Given the description of an element on the screen output the (x, y) to click on. 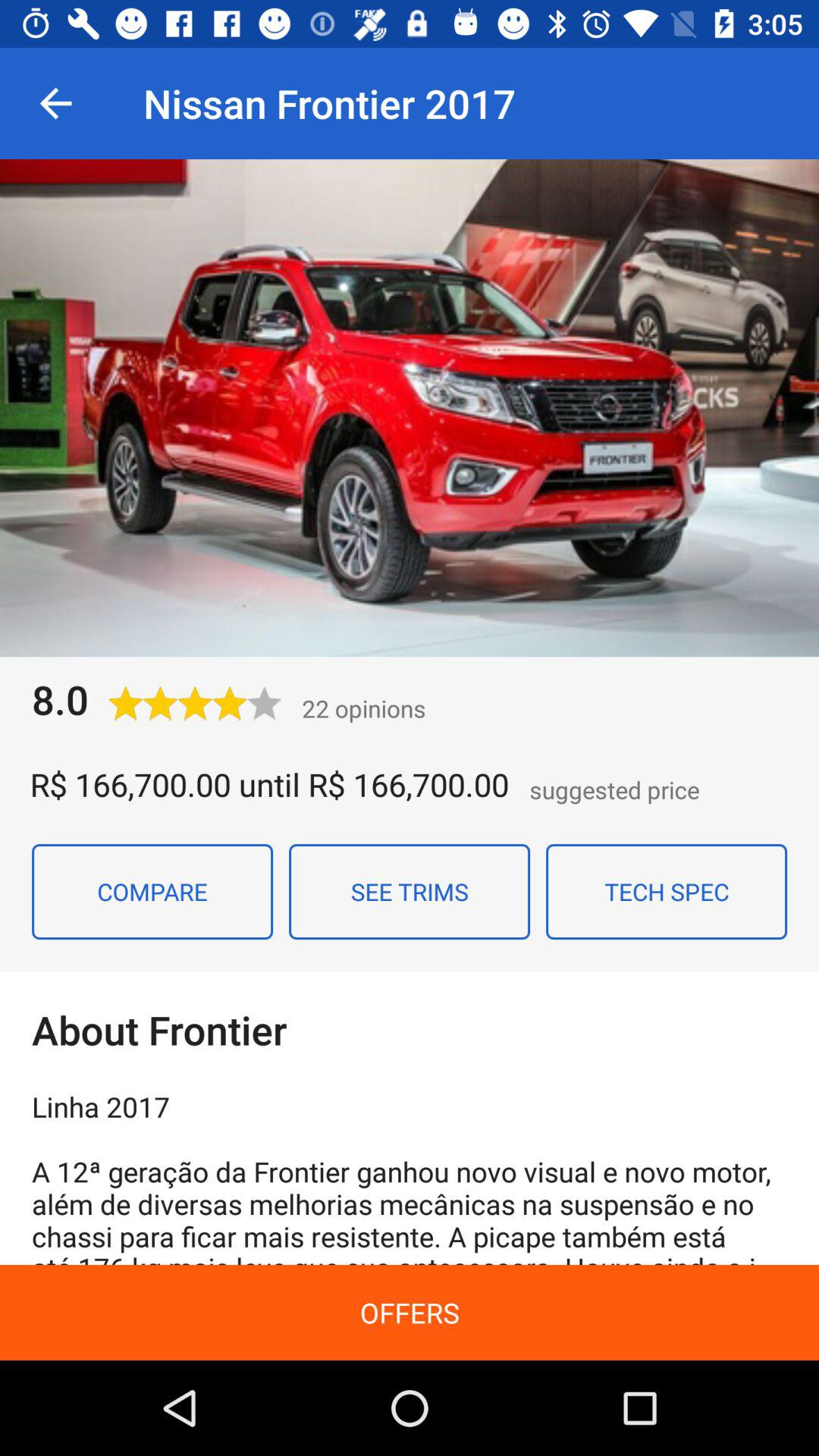
open the icon next to see trims (666, 891)
